Given the description of an element on the screen output the (x, y) to click on. 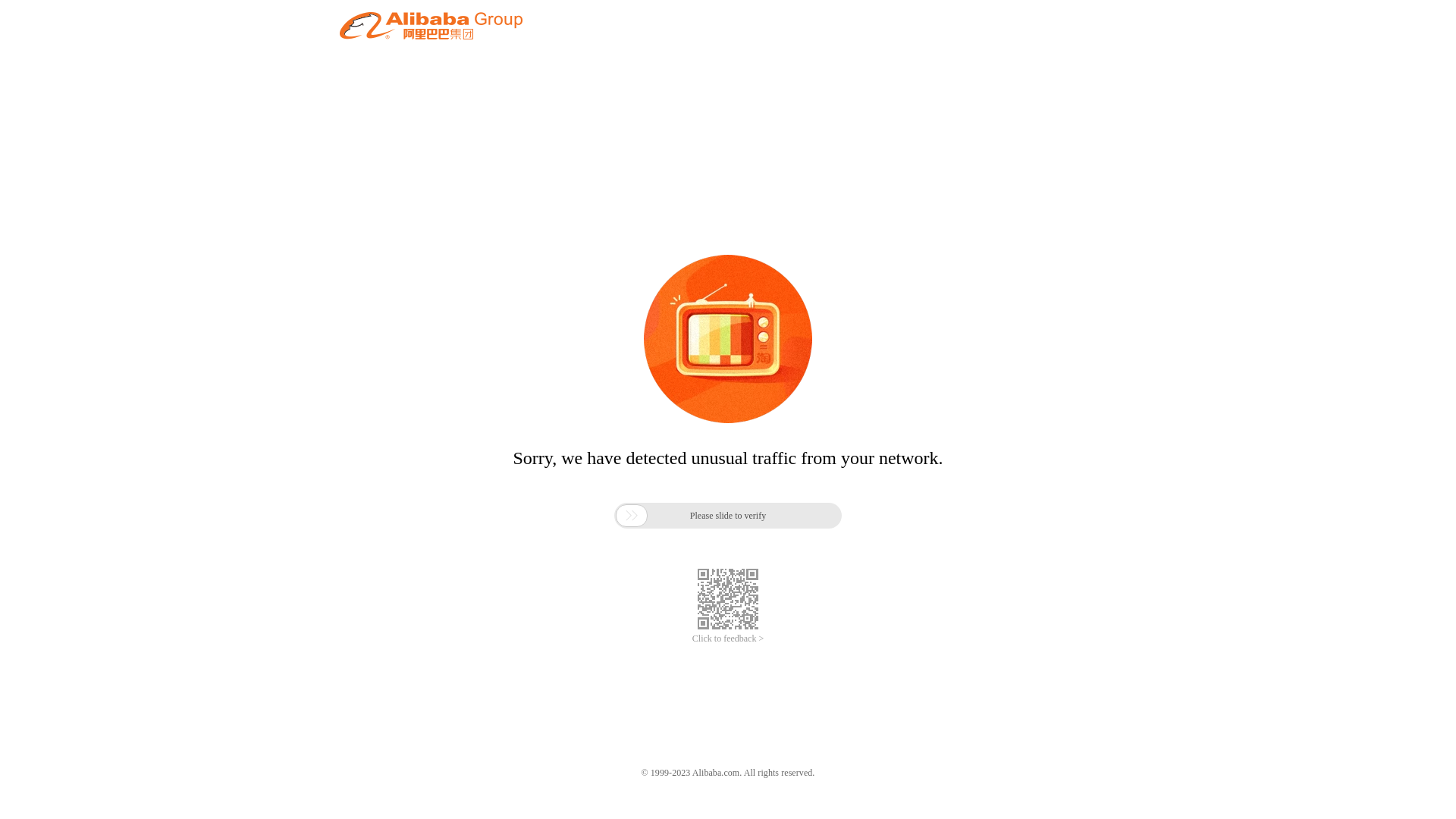
Click to feedback > Element type: text (727, 638)
